Given the description of an element on the screen output the (x, y) to click on. 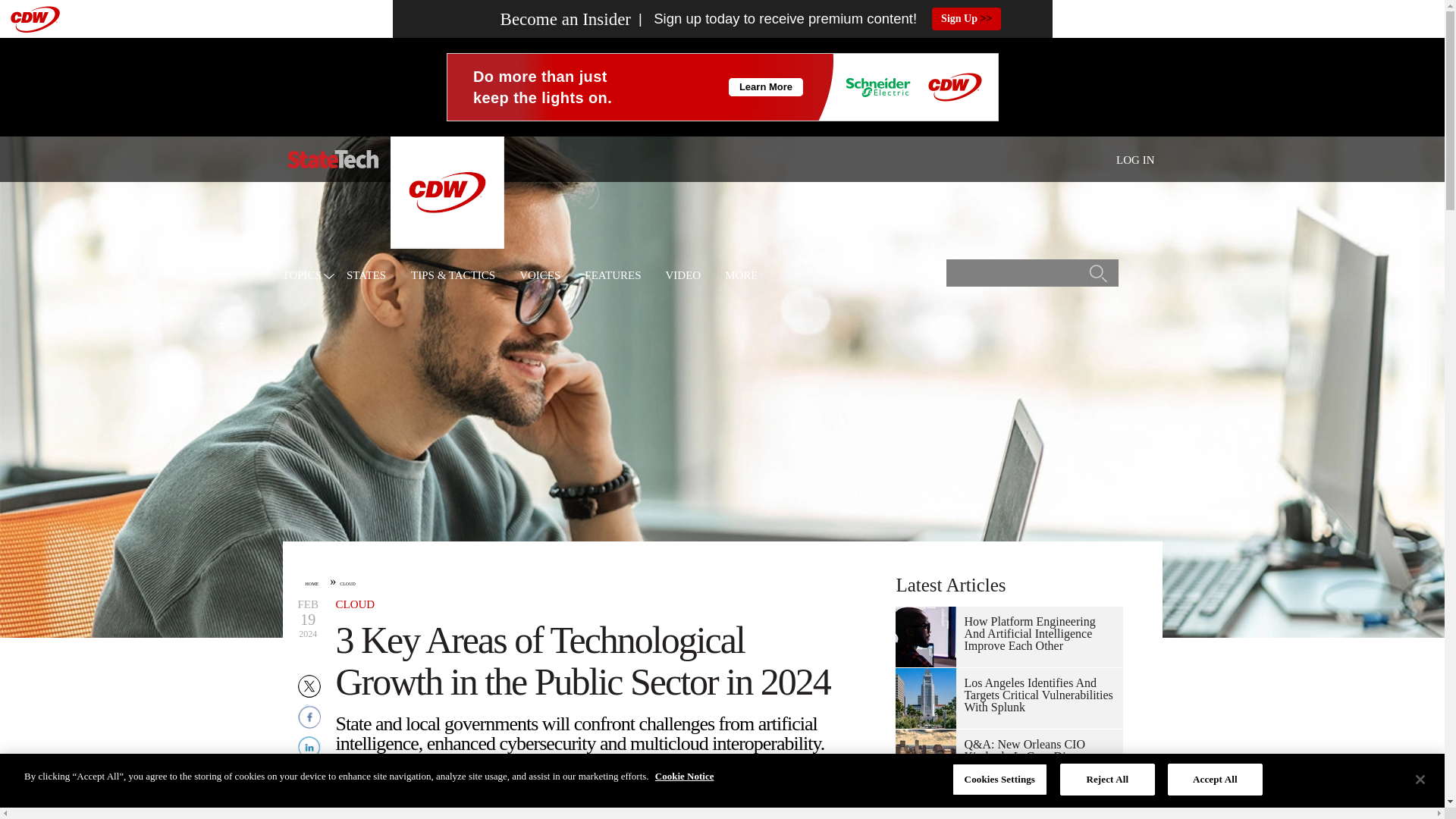
Become an Insider (537, 18)
Sign up today to receive premium content! (773, 19)
Home (332, 158)
VOICES (539, 275)
Sign Up (966, 18)
STATES (365, 275)
User menu (1135, 160)
LOG IN (1135, 159)
VIDEO (682, 275)
